Given the description of an element on the screen output the (x, y) to click on. 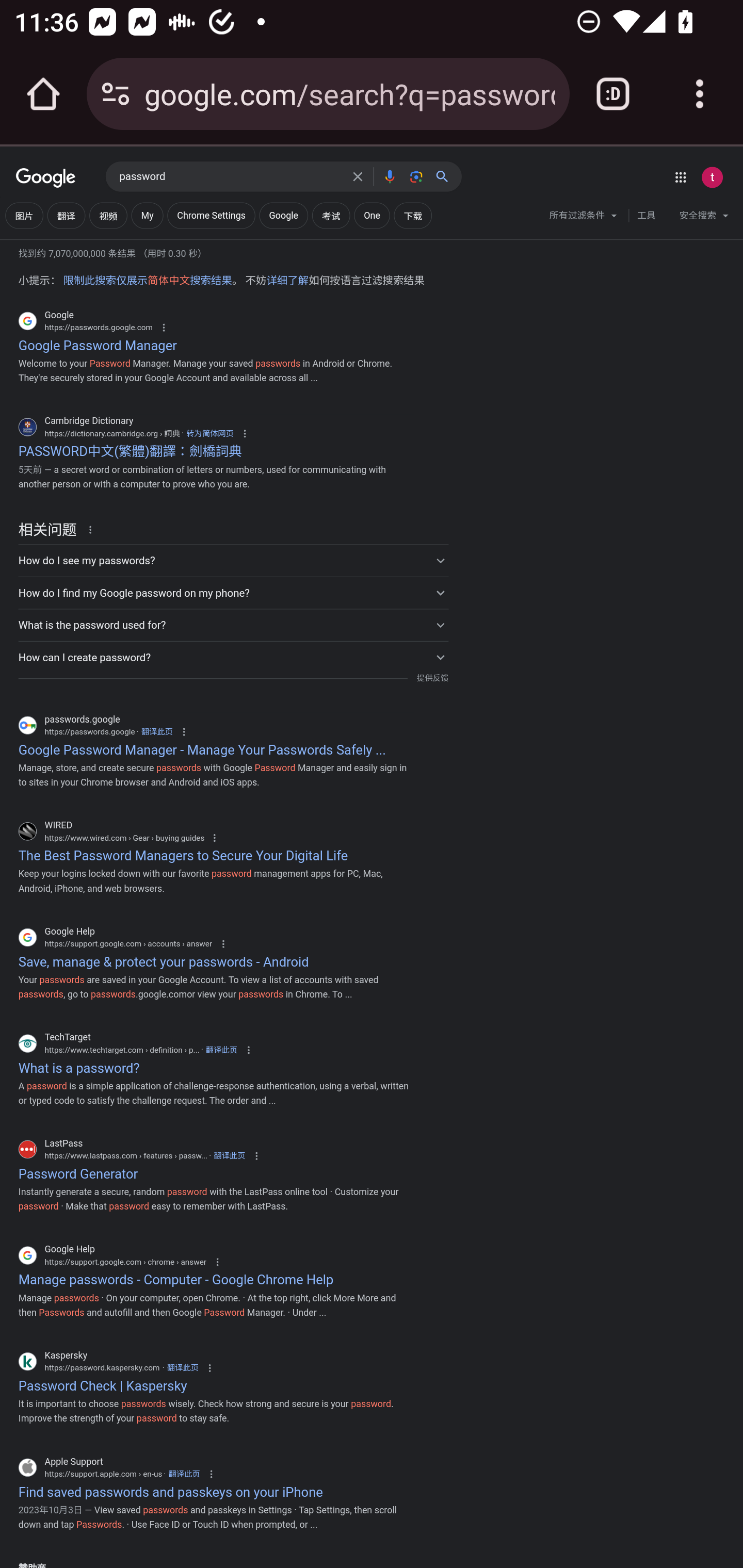
Open the home page (43, 93)
Connection is secure (115, 93)
Switch or close tabs (612, 93)
Customize and control Google Chrome (699, 93)
清除 (357, 176)
按语音搜索 (389, 176)
按图搜索 (415, 176)
搜索 (446, 176)
Google 应用 (680, 176)
Google 账号： test appium (testappium002@gmail.com) (712, 176)
Google (45, 178)
password (229, 177)
图片 (24, 215)
添加“翻译” 翻译 (65, 215)
视频 (107, 215)
添加“My” My (147, 215)
添加“Chrome Settings” Chrome Settings (210, 215)
添加“Google” Google (283, 215)
添加“考试” 考试 (330, 215)
添加“One” One (371, 215)
添加“下载” 下载 (412, 215)
所有过滤条件 (583, 217)
工具 (646, 215)
安全搜索 (703, 217)
限制此搜索仅展示简体中文搜索结果 限制此搜索仅展示 简体中文 搜索结果 (147, 280)
详细了解 (287, 280)
转为简体网页 (209, 432)
关于这条结果的详细信息 (93, 529)
How do I see my passwords? (232, 560)
How do I find my Google password on my phone? (232, 592)
What is the password used for? (232, 624)
How can I create password? (232, 657)
提供反馈 (432, 677)
翻译此页 (157, 731)
翻译此页 (221, 1048)
翻译此页 (229, 1155)
翻译此页 (182, 1368)
翻译此页 (183, 1473)
